Given the description of an element on the screen output the (x, y) to click on. 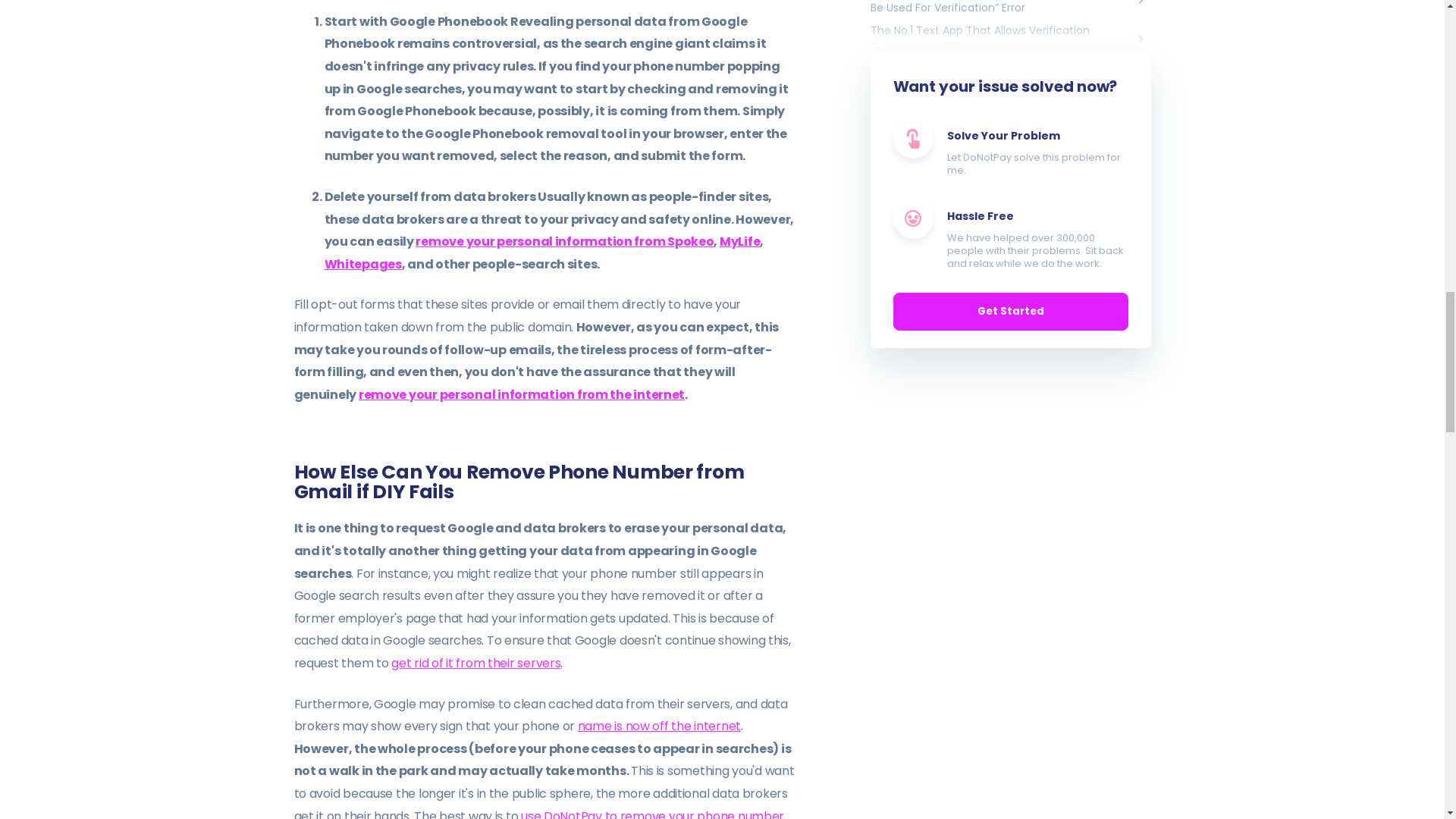
MyLife (739, 241)
Whitepages (362, 263)
get rid of it from their servers (475, 662)
remove your personal information from Spokeo (563, 241)
remove your personal information from the internet (521, 394)
